Given the description of an element on the screen output the (x, y) to click on. 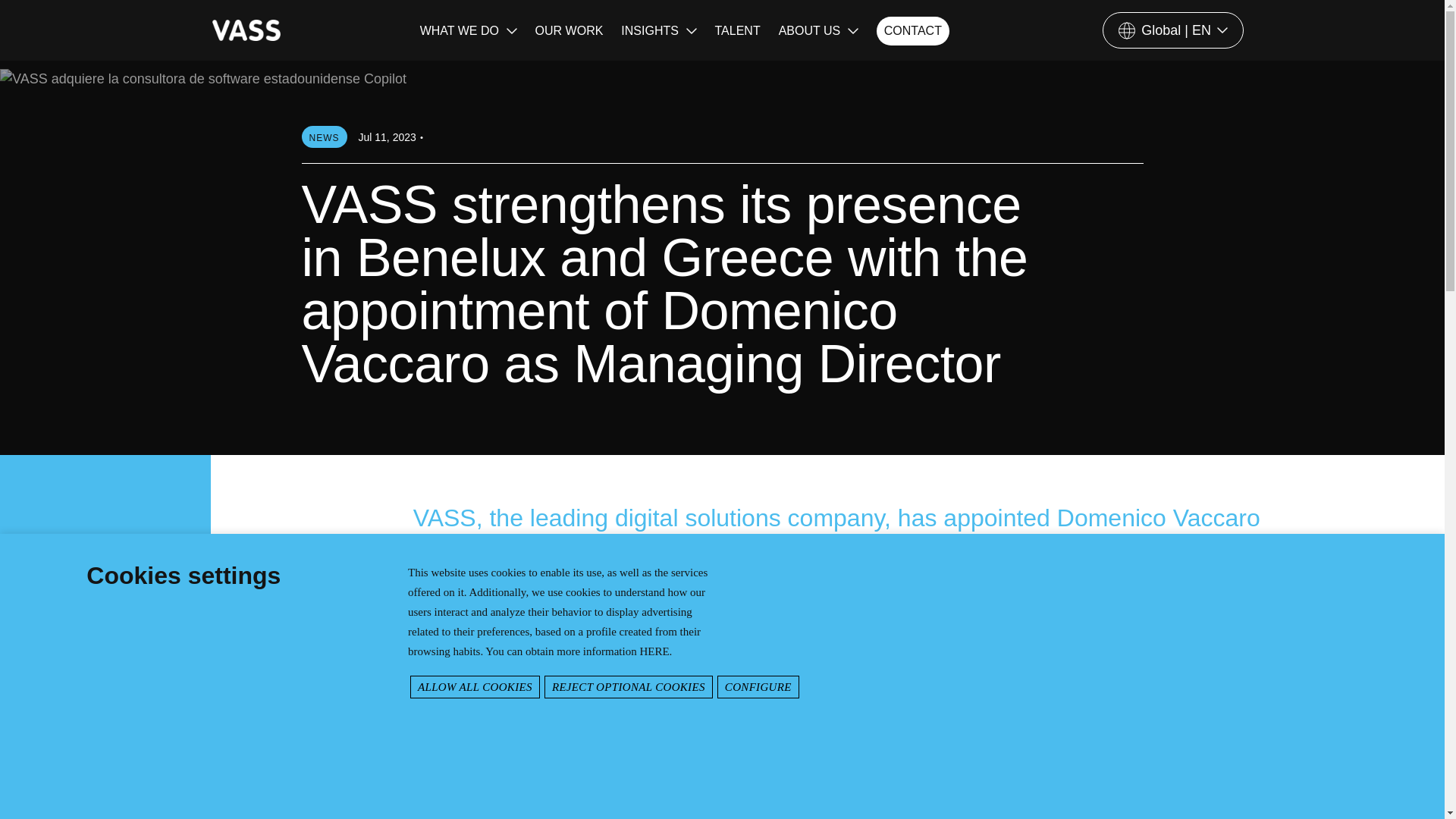
OUR WORK (569, 30)
